Given the description of an element on the screen output the (x, y) to click on. 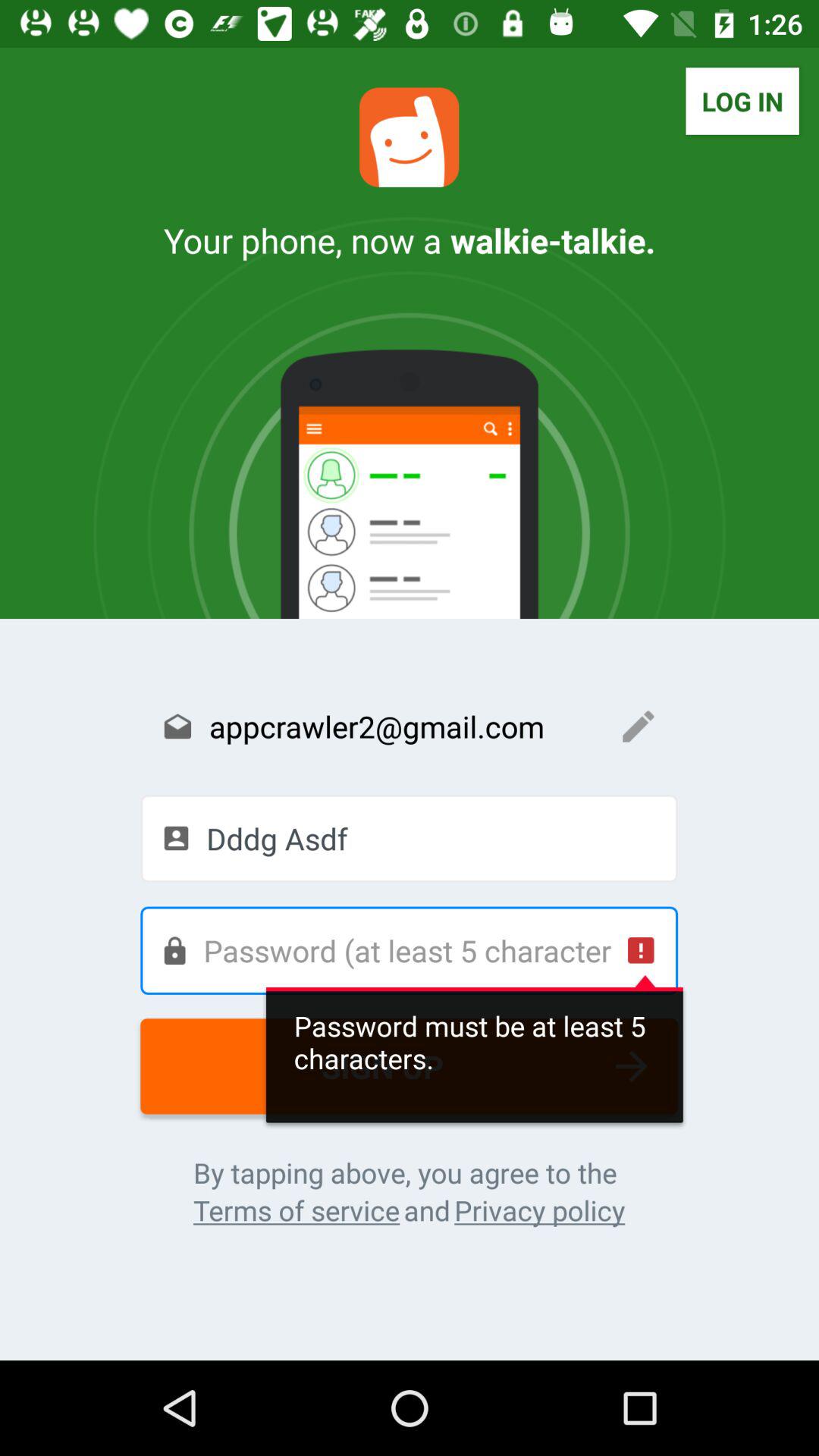
launch the terms of service (296, 1210)
